Given the description of an element on the screen output the (x, y) to click on. 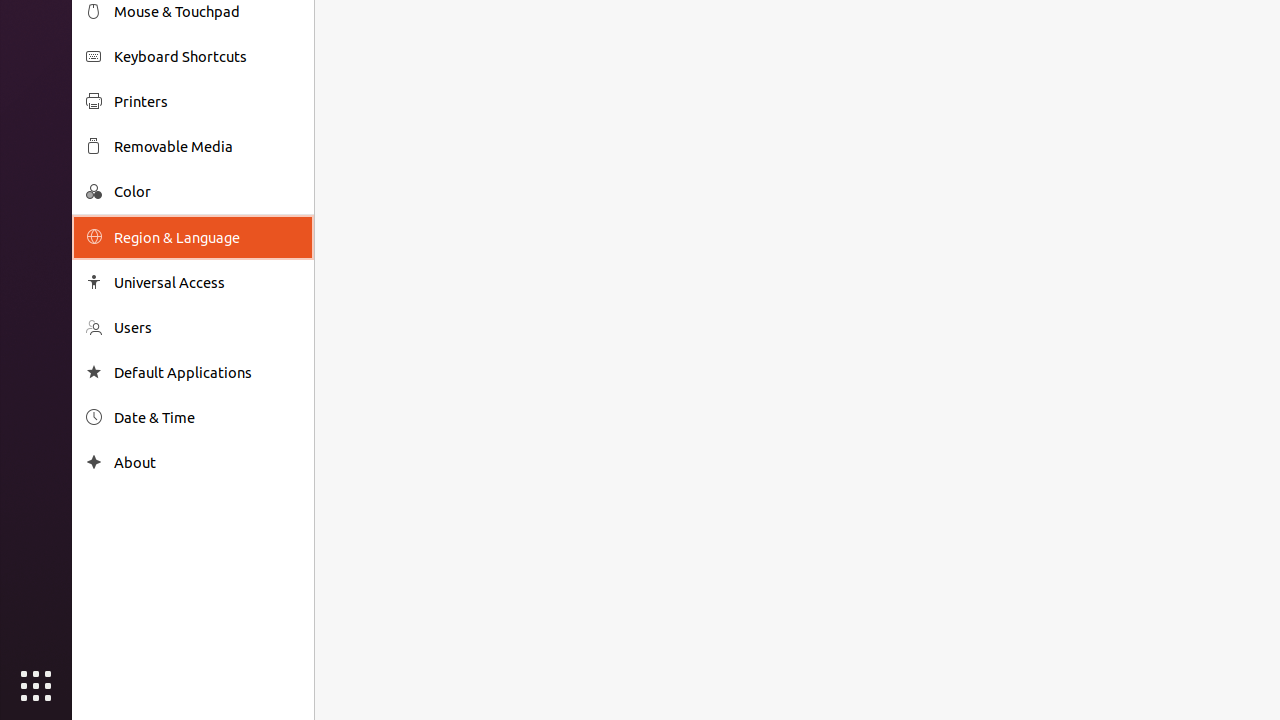
Default Applications Element type: label (207, 372)
Date & Time Element type: label (207, 417)
